Given the description of an element on the screen output the (x, y) to click on. 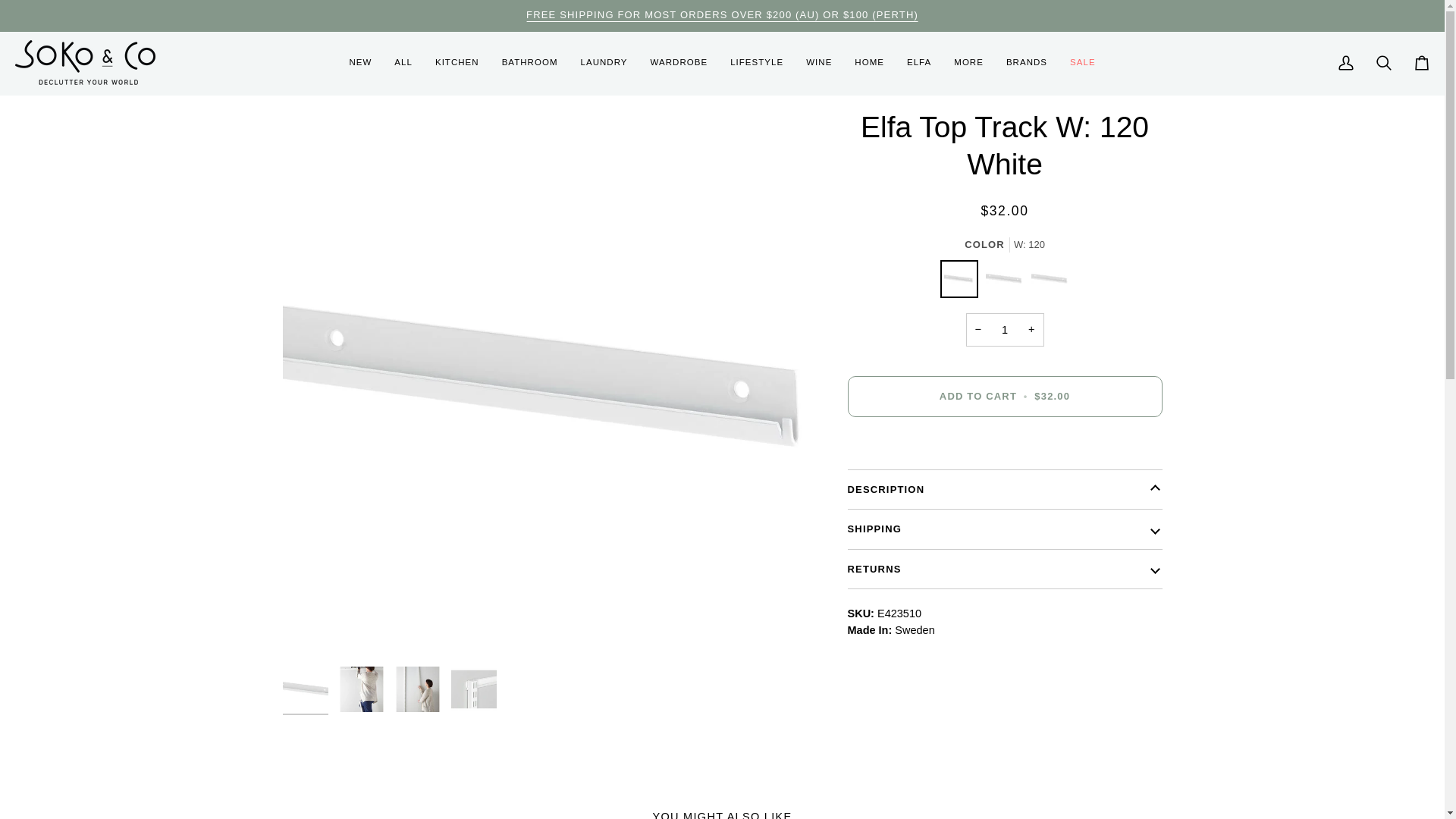
Shipping Policy (721, 14)
W: 120 (962, 282)
W: 180 (1007, 282)
KITCHEN (456, 63)
BATHROOM (529, 63)
1 (1004, 329)
